Given the description of an element on the screen output the (x, y) to click on. 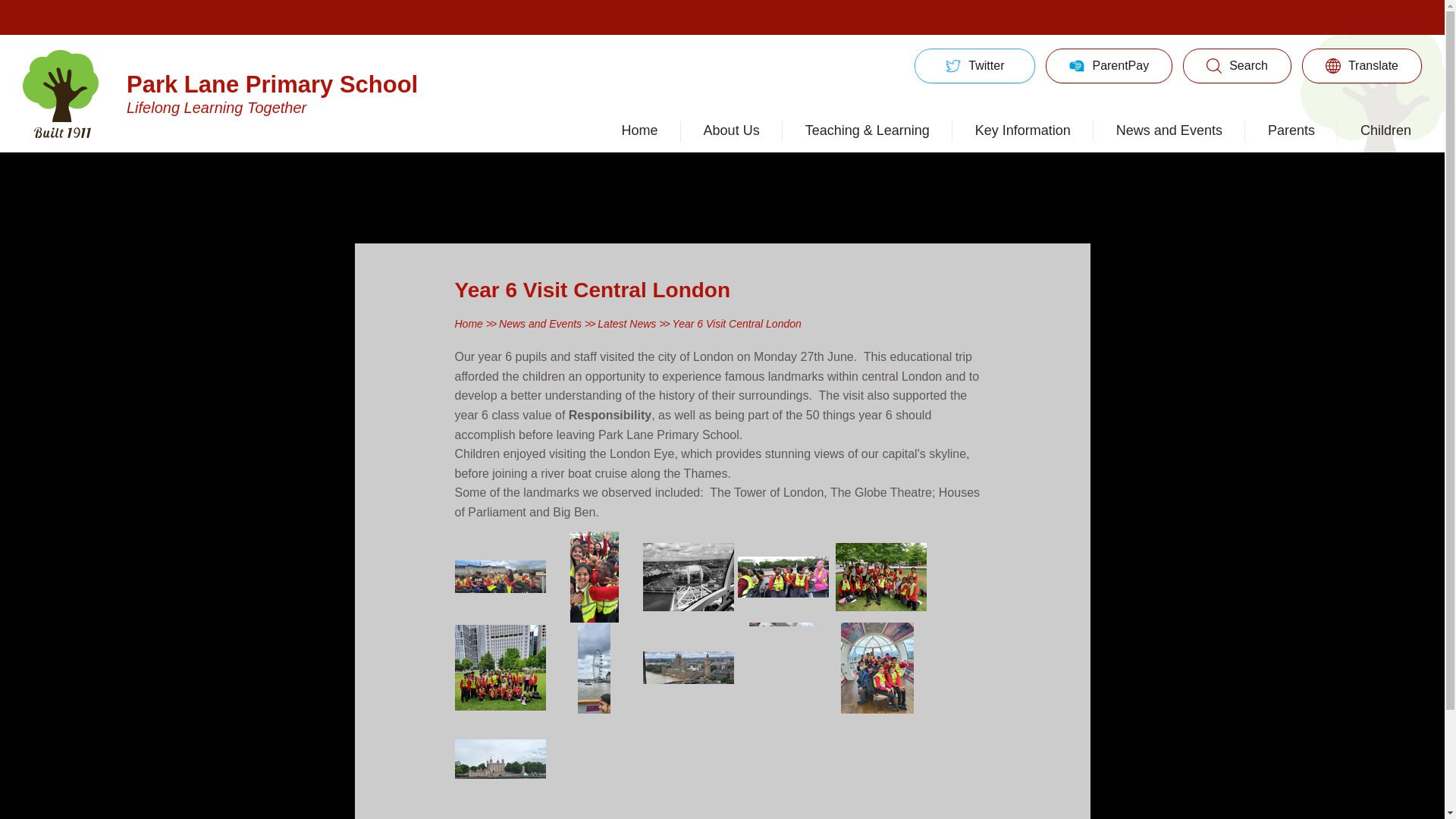
Home (639, 130)
Home Page (277, 92)
About Us (277, 92)
